Given the description of an element on the screen output the (x, y) to click on. 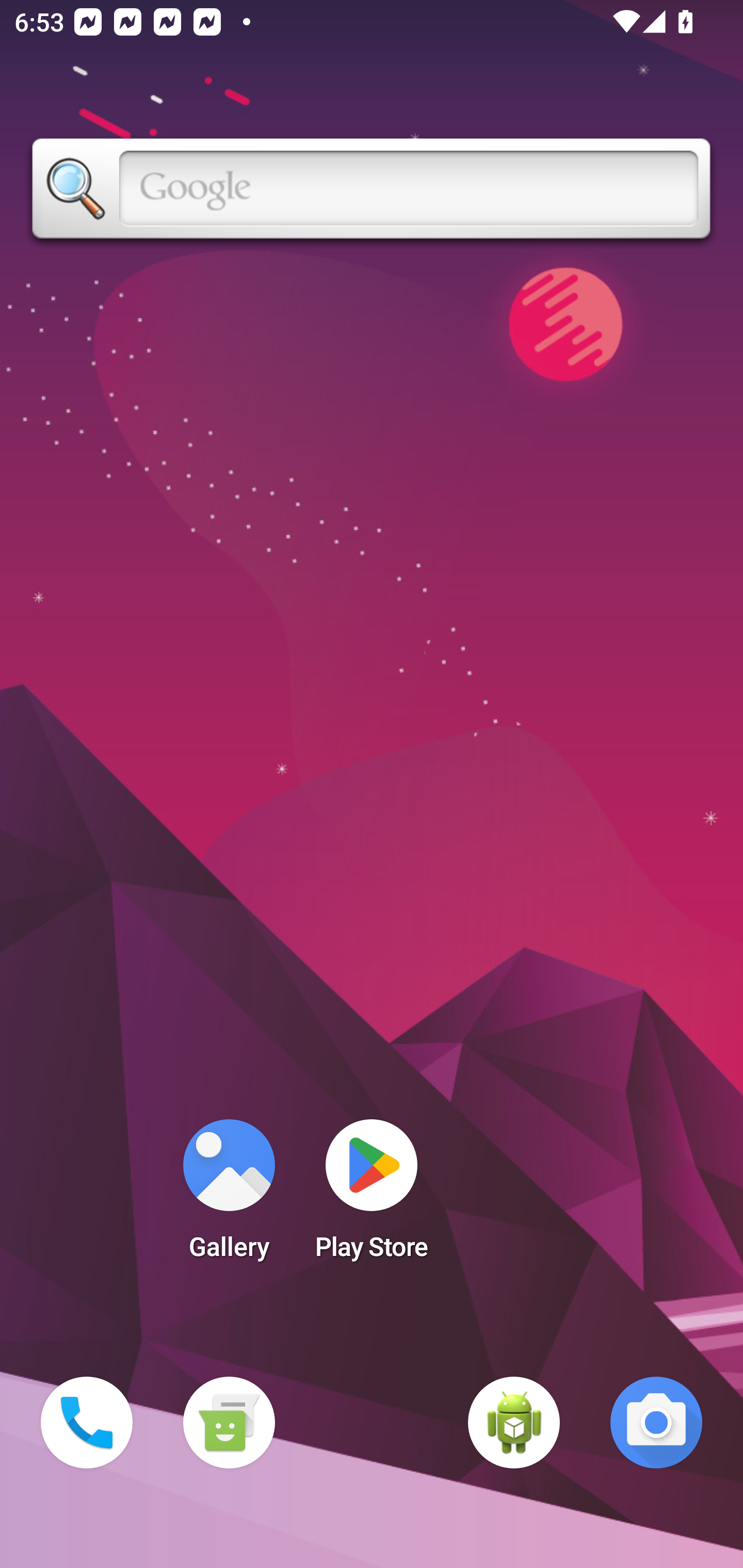
Gallery (228, 1195)
Play Store (371, 1195)
Phone (86, 1422)
Messaging (228, 1422)
WebView Browser Tester (513, 1422)
Camera (656, 1422)
